Given the description of an element on the screen output the (x, y) to click on. 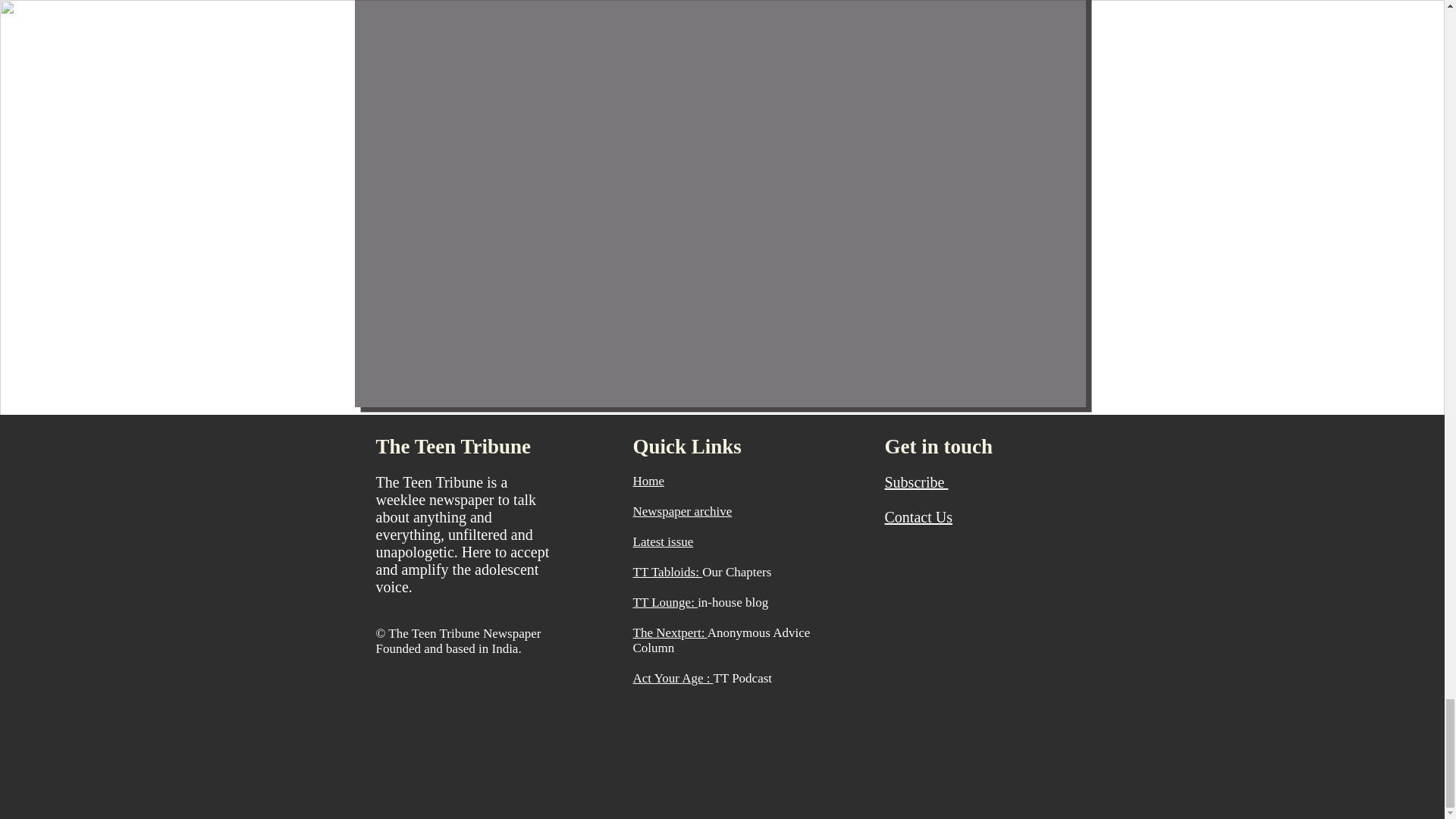
TT Lounge: in-house blog (699, 602)
Home (647, 481)
TT Tabloids: Our Chapters (701, 572)
Latest issue (662, 541)
The Nextpert: Anonymous (700, 632)
Newspaper archive (681, 511)
